Given the description of an element on the screen output the (x, y) to click on. 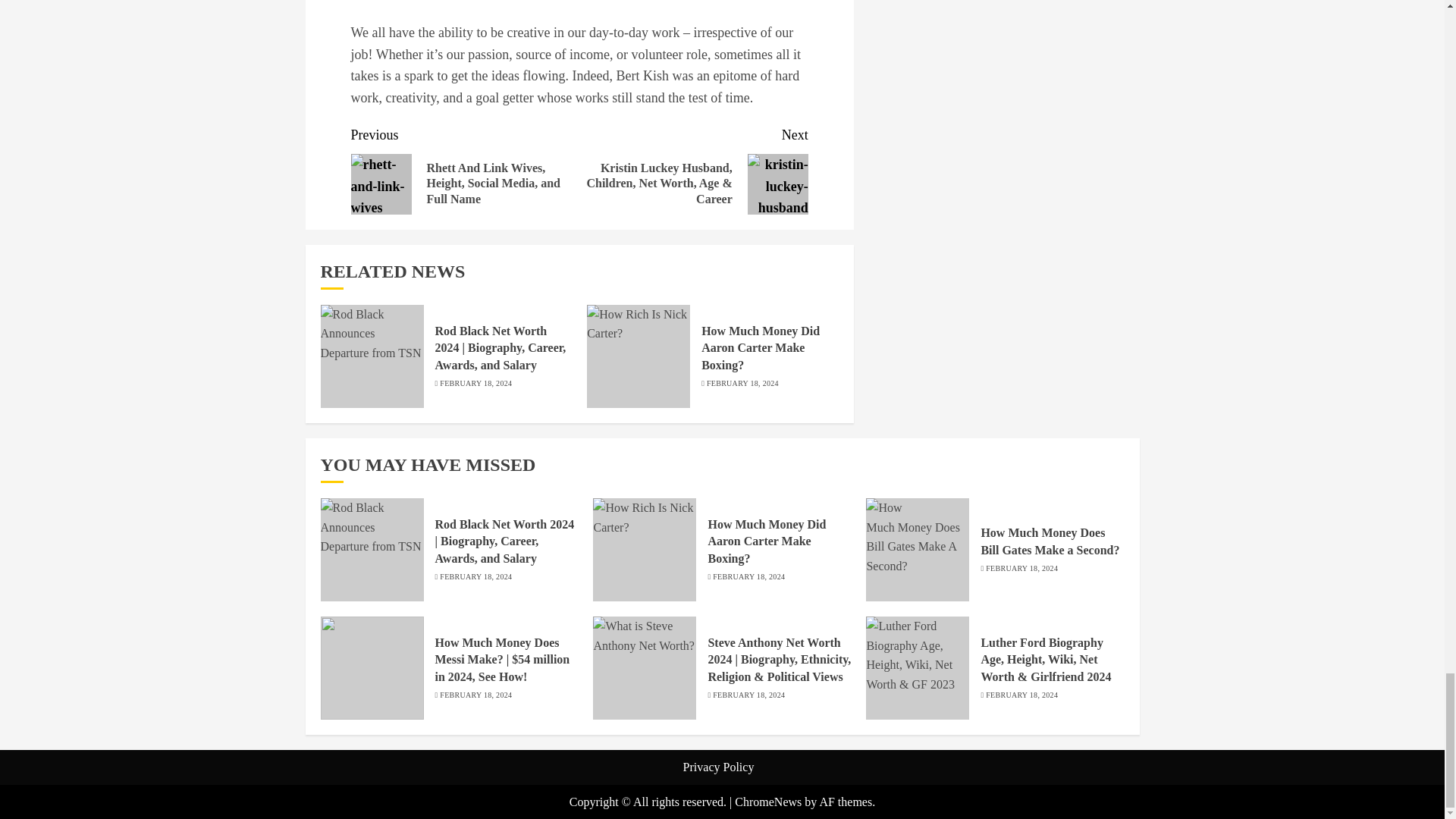
FEBRUARY 18, 2024 (475, 576)
FEBRUARY 18, 2024 (475, 695)
FEBRUARY 18, 2024 (748, 576)
FEBRUARY 18, 2024 (1021, 568)
FEBRUARY 18, 2024 (742, 383)
FEBRUARY 18, 2024 (475, 383)
How Much Money Did Aaron Carter Make Boxing? (760, 348)
How Much Money Did Aaron Carter Make Boxing? (766, 541)
How Much Money Does Bill Gates Make a Second? (1049, 541)
